Given the description of an element on the screen output the (x, y) to click on. 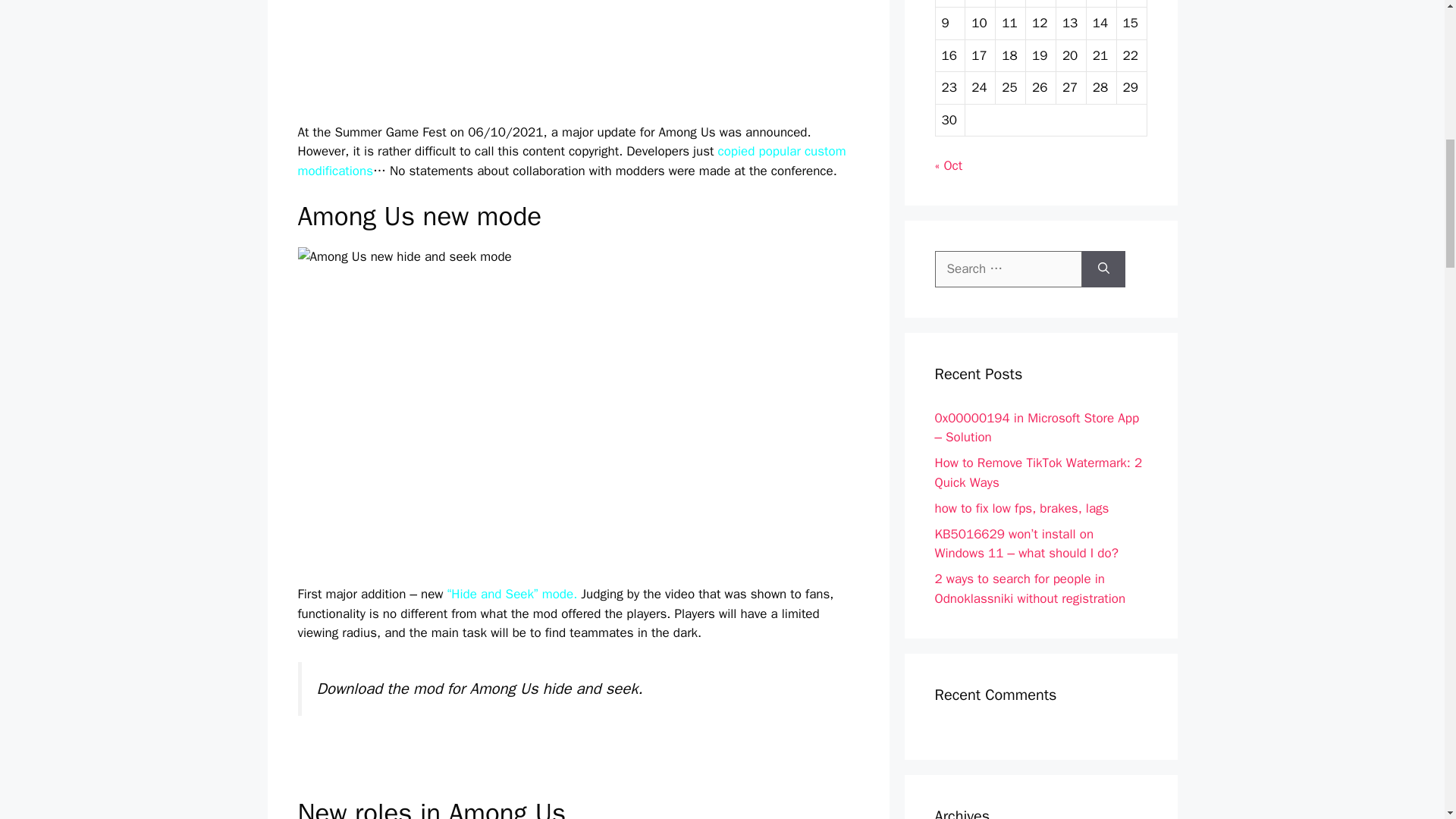
Search for: (1007, 268)
how to fix low fps, brakes, lags (1021, 508)
How to Remove TikTok Watermark: 2 Quick Ways (1037, 472)
